Given the description of an element on the screen output the (x, y) to click on. 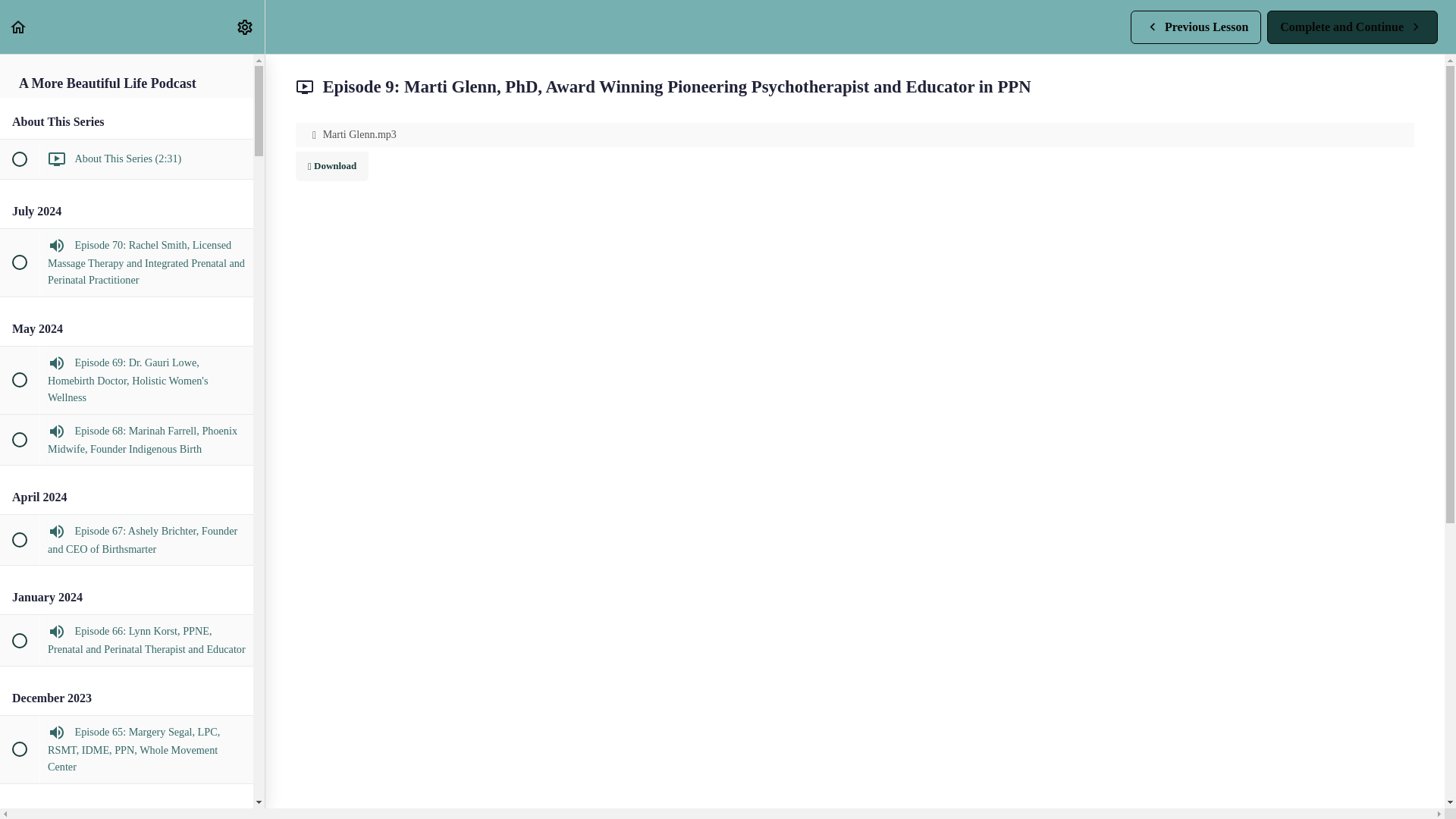
  Previous Lesson (1195, 27)
Back to course curriculum (17, 27)
Settings Menu (244, 27)
